Given the description of an element on the screen output the (x, y) to click on. 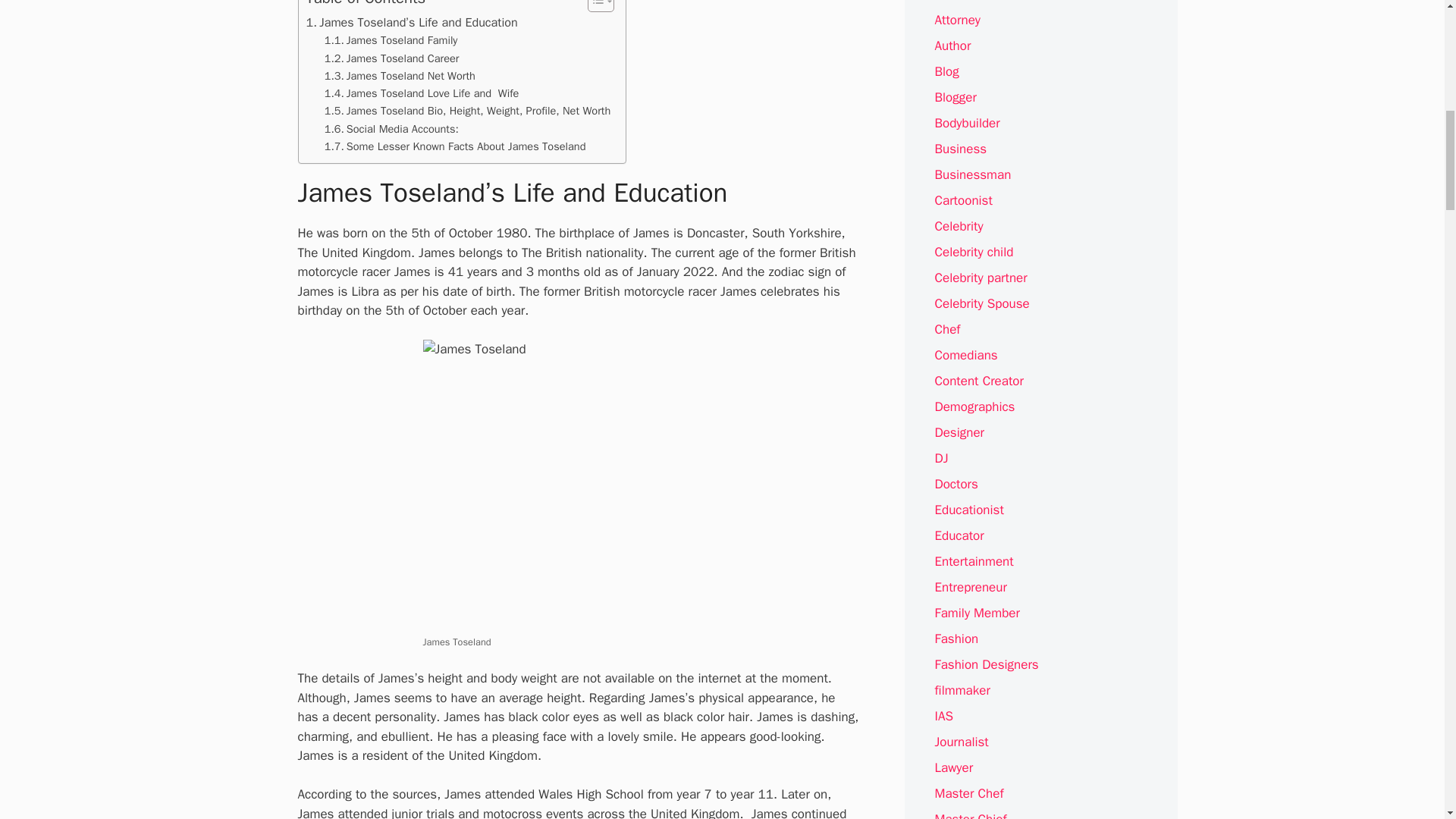
James Toseland Bio, Height, Weight, Profile, Net Worth (467, 110)
James Toseland Career (392, 58)
Some Lesser Known Facts About James Toseland (455, 146)
James Toseland Net Worth (400, 76)
Some Lesser Known Facts About James Toseland (455, 146)
James Toseland Family (391, 40)
Social Media Accounts: (391, 129)
Scroll back to top (1406, 720)
James Toseland Net Worth (400, 76)
Social Media Accounts: (391, 129)
James Toseland Family (391, 40)
James Toseland Career (392, 58)
James Toseland Love Life and  Wife (421, 93)
